Given the description of an element on the screen output the (x, y) to click on. 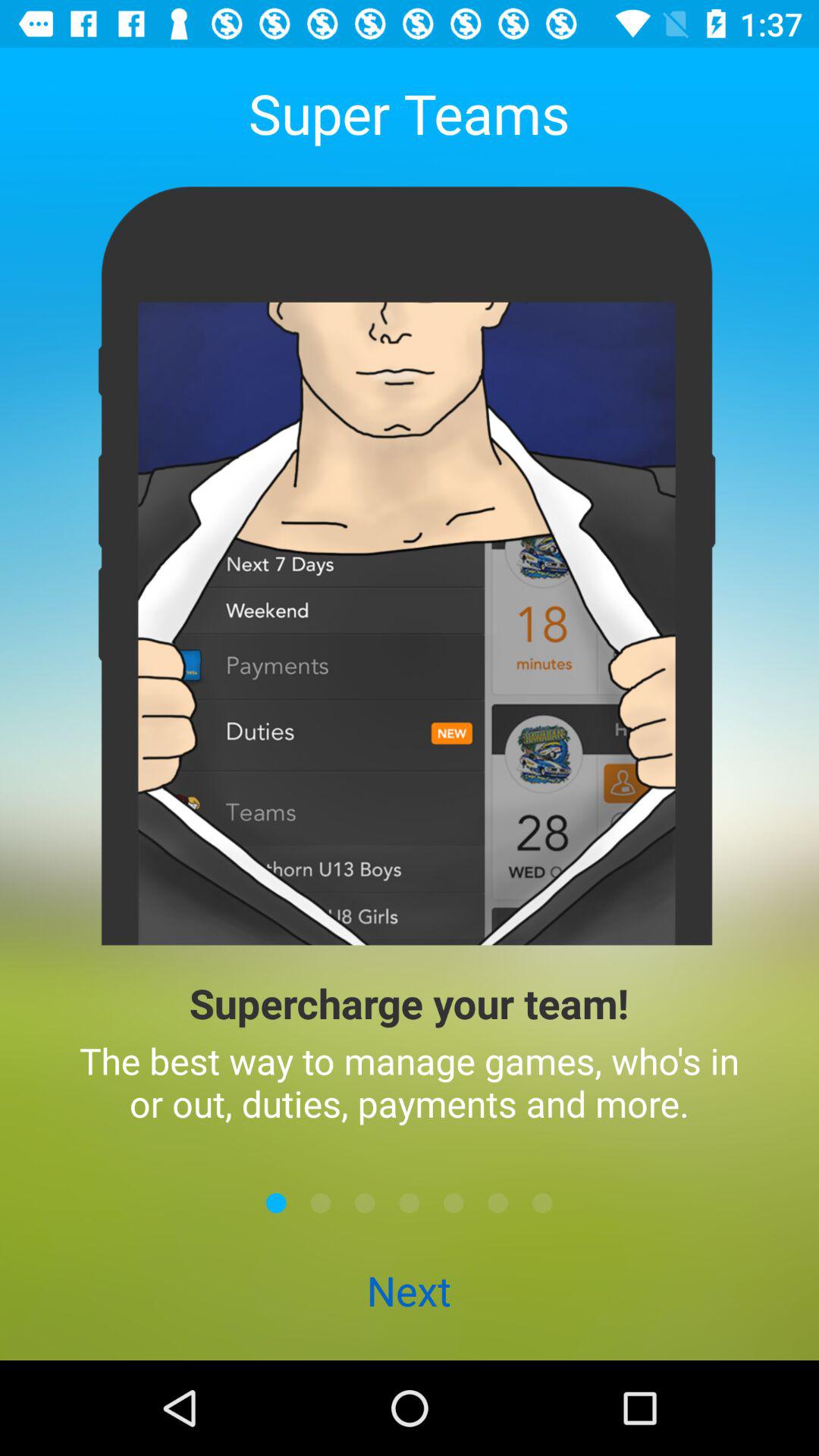
jump until the next icon (409, 1292)
